Given the description of an element on the screen output the (x, y) to click on. 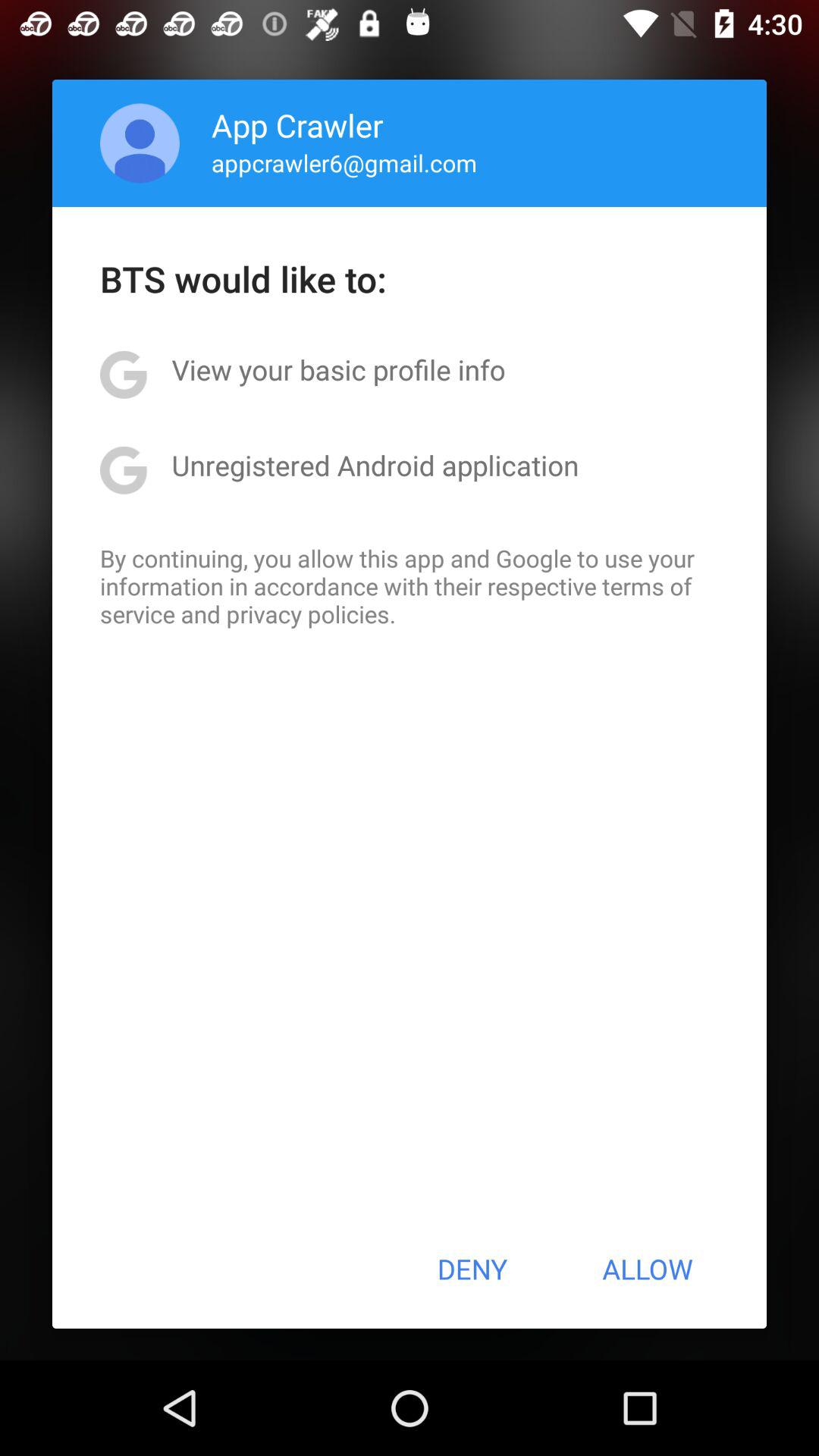
choose button next to the allow button (471, 1268)
